Given the description of an element on the screen output the (x, y) to click on. 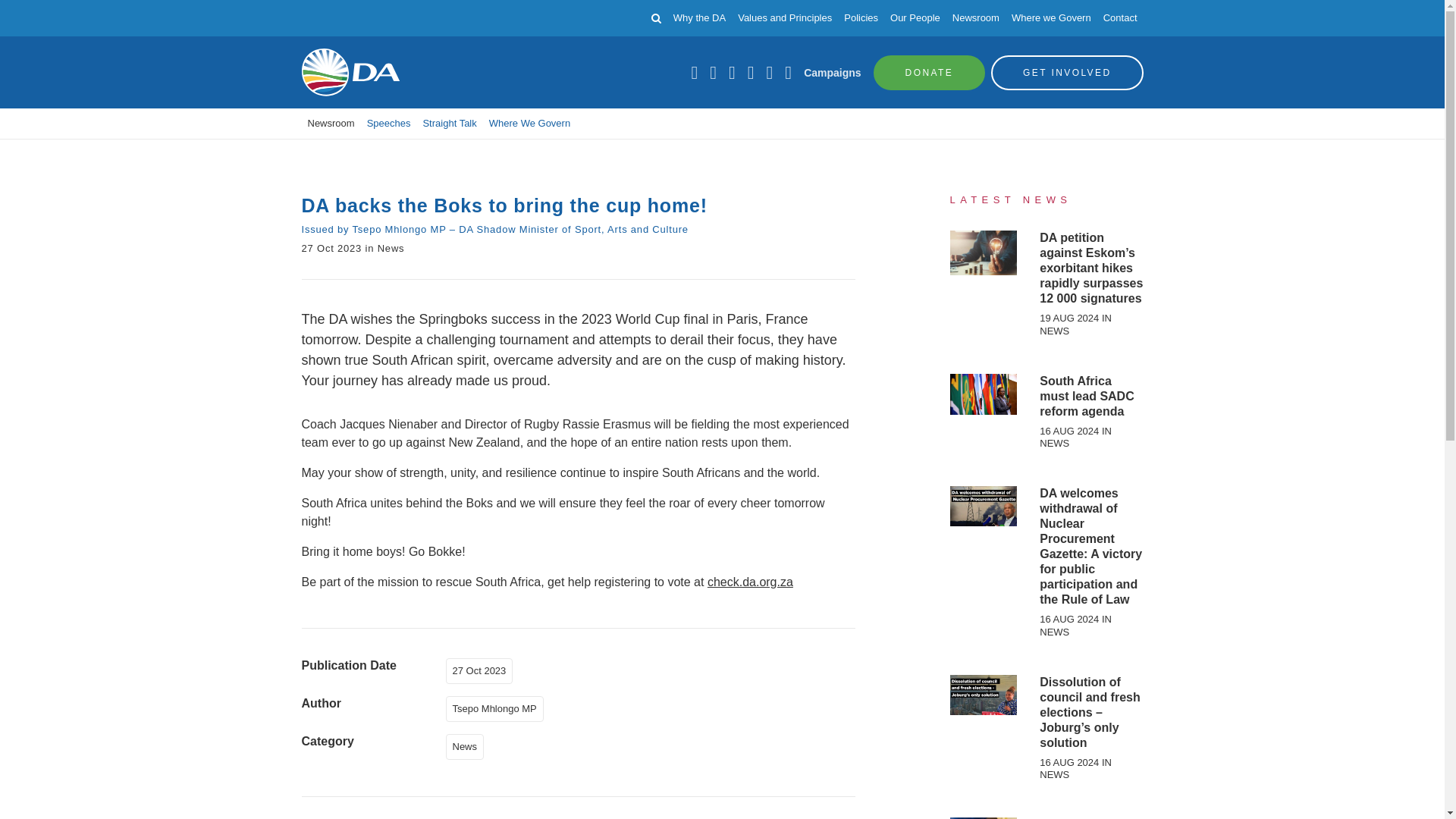
Straight Talk (449, 122)
Newsroom (975, 17)
Get Involved (1066, 70)
Policies (860, 17)
Contact (1120, 17)
Democratic Alliance Logo (350, 72)
Where we Govern (1050, 17)
DONATE (929, 71)
Our People (914, 17)
GET INVOLVED (1066, 71)
